Given the description of an element on the screen output the (x, y) to click on. 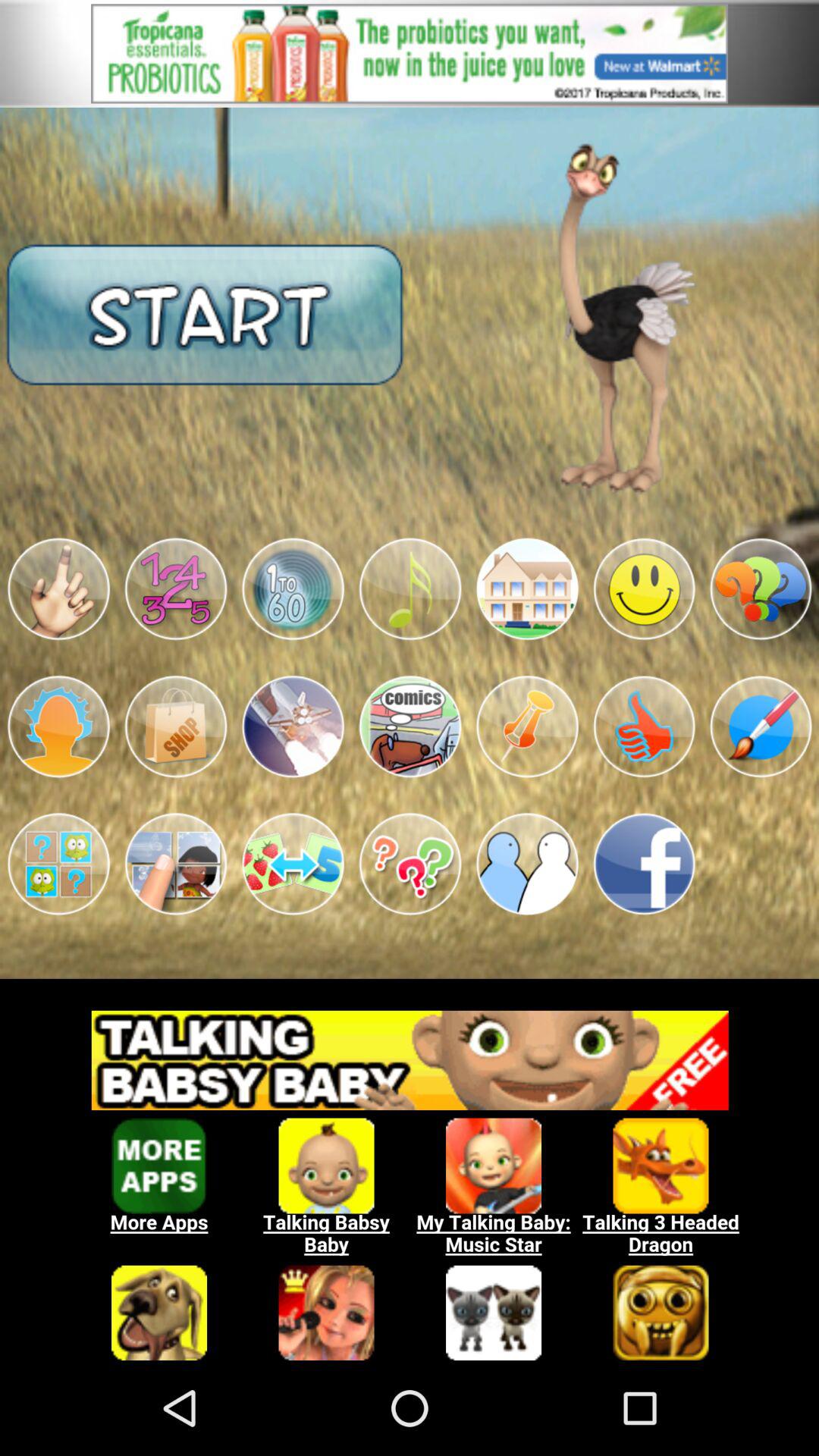
share the articles (643, 863)
